Given the description of an element on the screen output the (x, y) to click on. 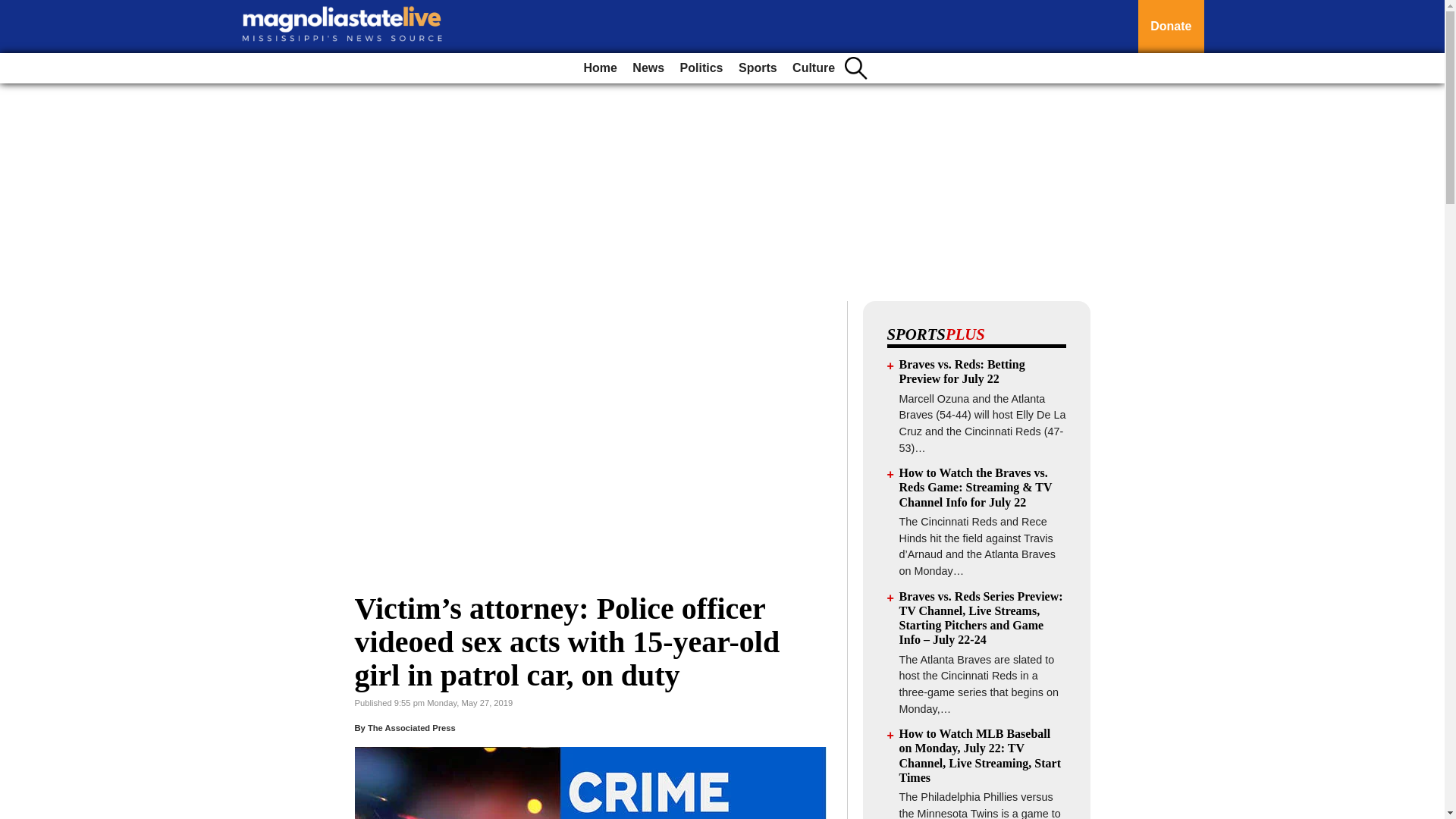
Culture (813, 68)
Home (599, 68)
Donate (1171, 26)
News (647, 68)
Go (13, 9)
The Associated Press (411, 727)
Braves vs. Reds: Betting Preview for July 22 (962, 370)
Politics (701, 68)
Sports (757, 68)
